Given the description of an element on the screen output the (x, y) to click on. 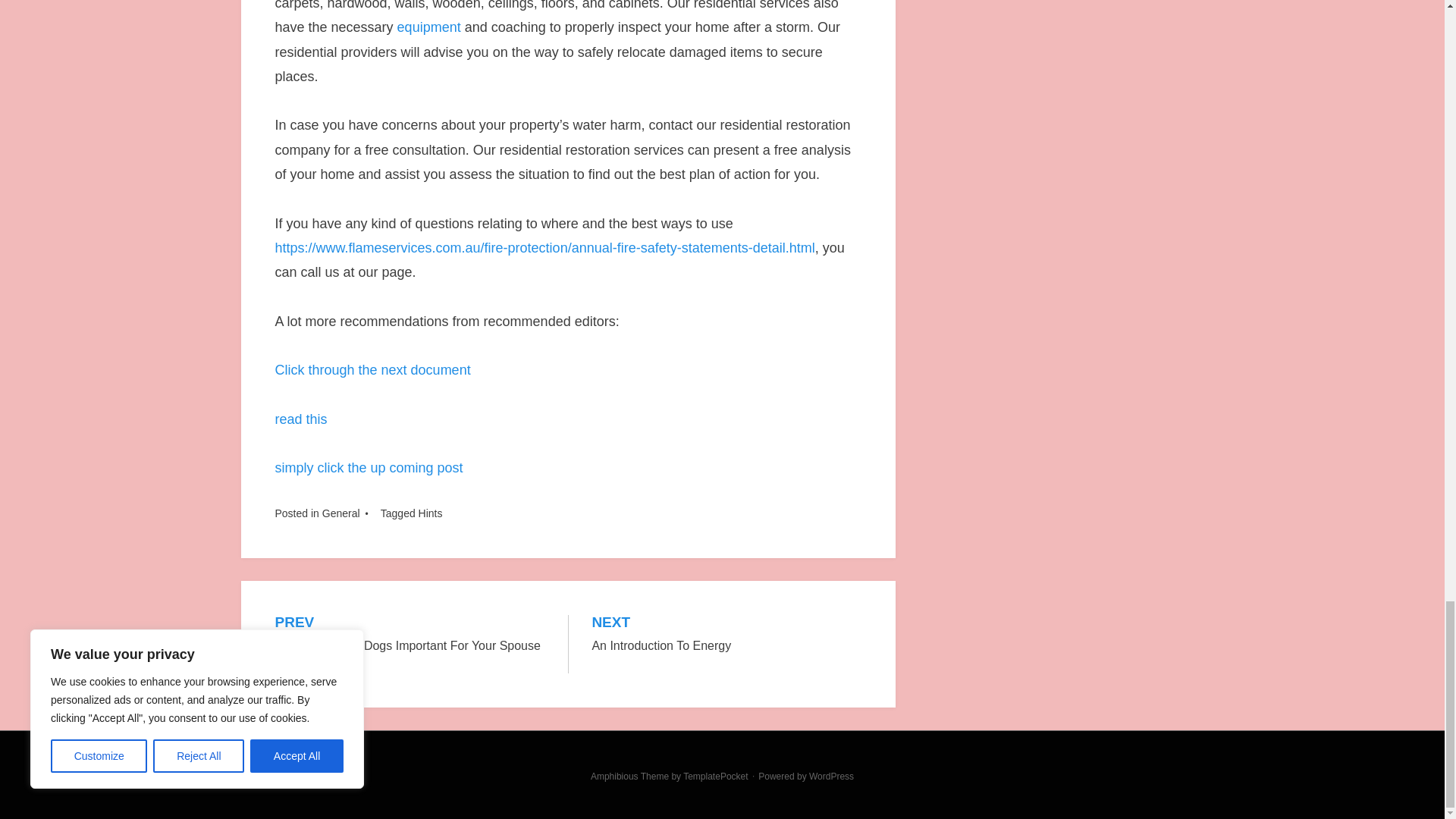
Hints (726, 635)
equipment (430, 512)
read this (429, 27)
simply click the up coming post (300, 418)
TemplatePocket (369, 467)
WordPress (715, 776)
Click through the next document (831, 776)
General (372, 369)
